Given the description of an element on the screen output the (x, y) to click on. 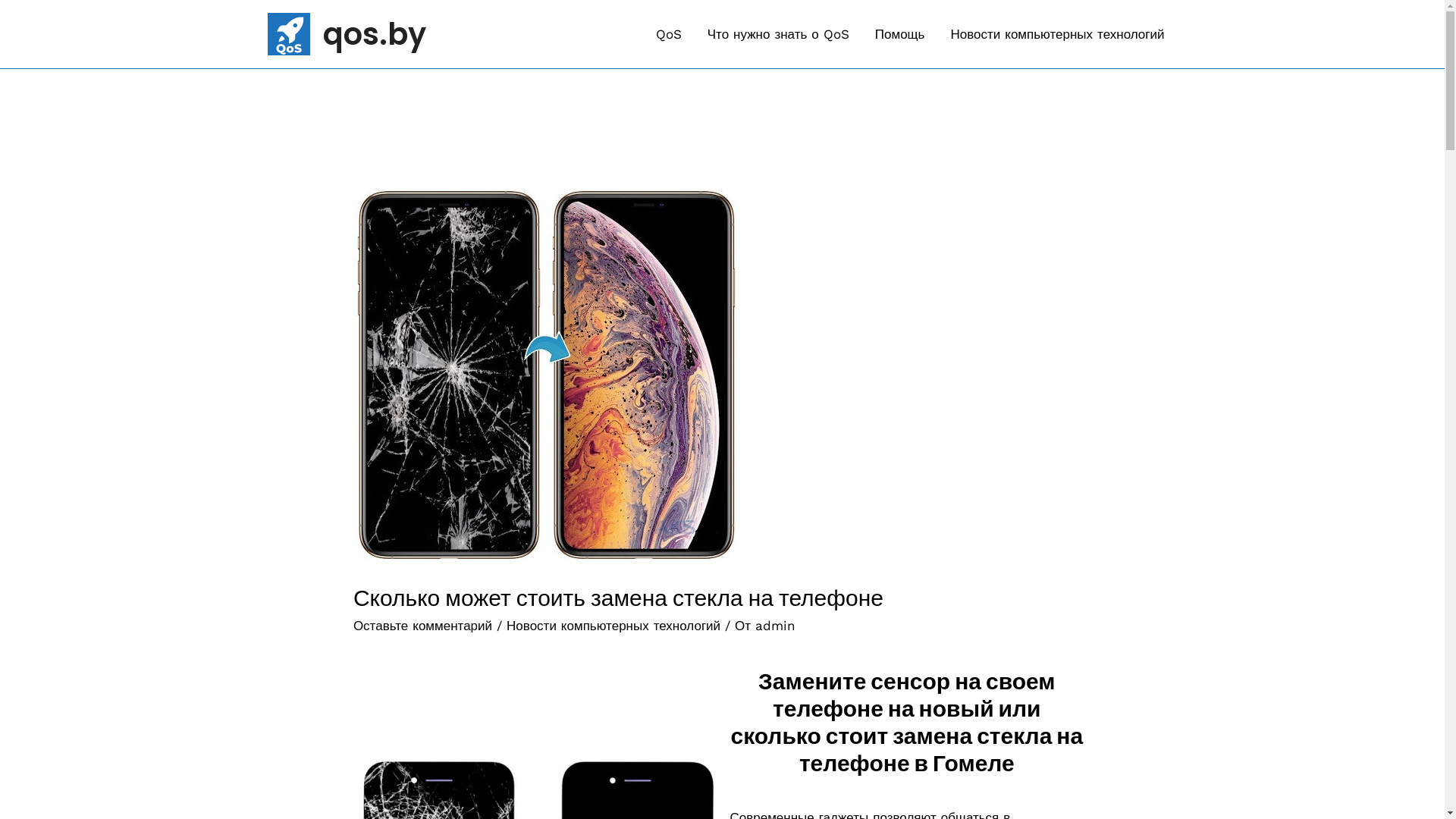
admin Element type: text (775, 625)
QoS Element type: text (668, 34)
qos.by Element type: text (374, 33)
